Given the description of an element on the screen output the (x, y) to click on. 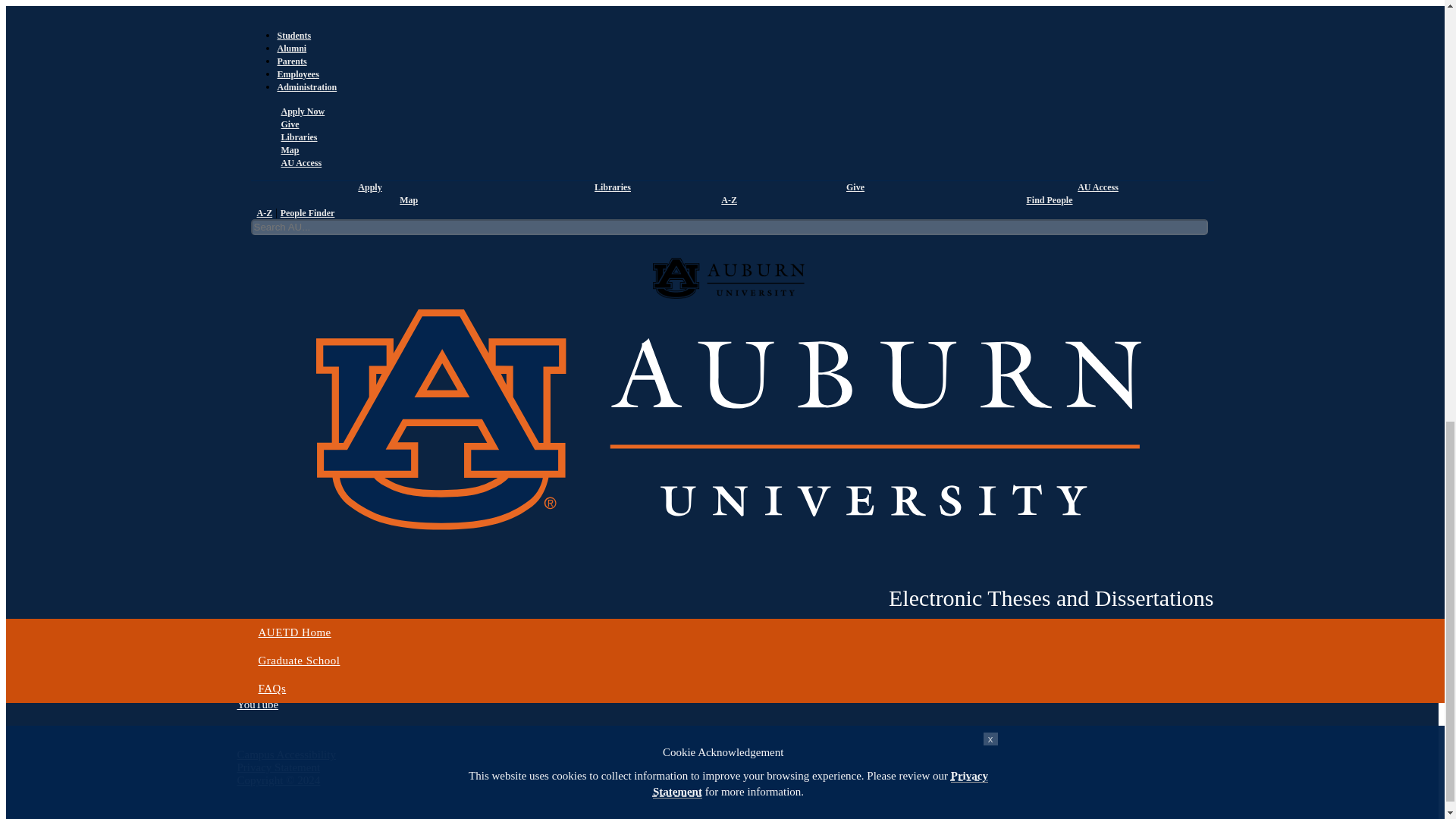
Auburn University YouTube channel (256, 704)
Auburn University Instagram (258, 691)
Auburn University Facebook page (258, 665)
Auburn University Twitter (252, 678)
